Given the description of an element on the screen output the (x, y) to click on. 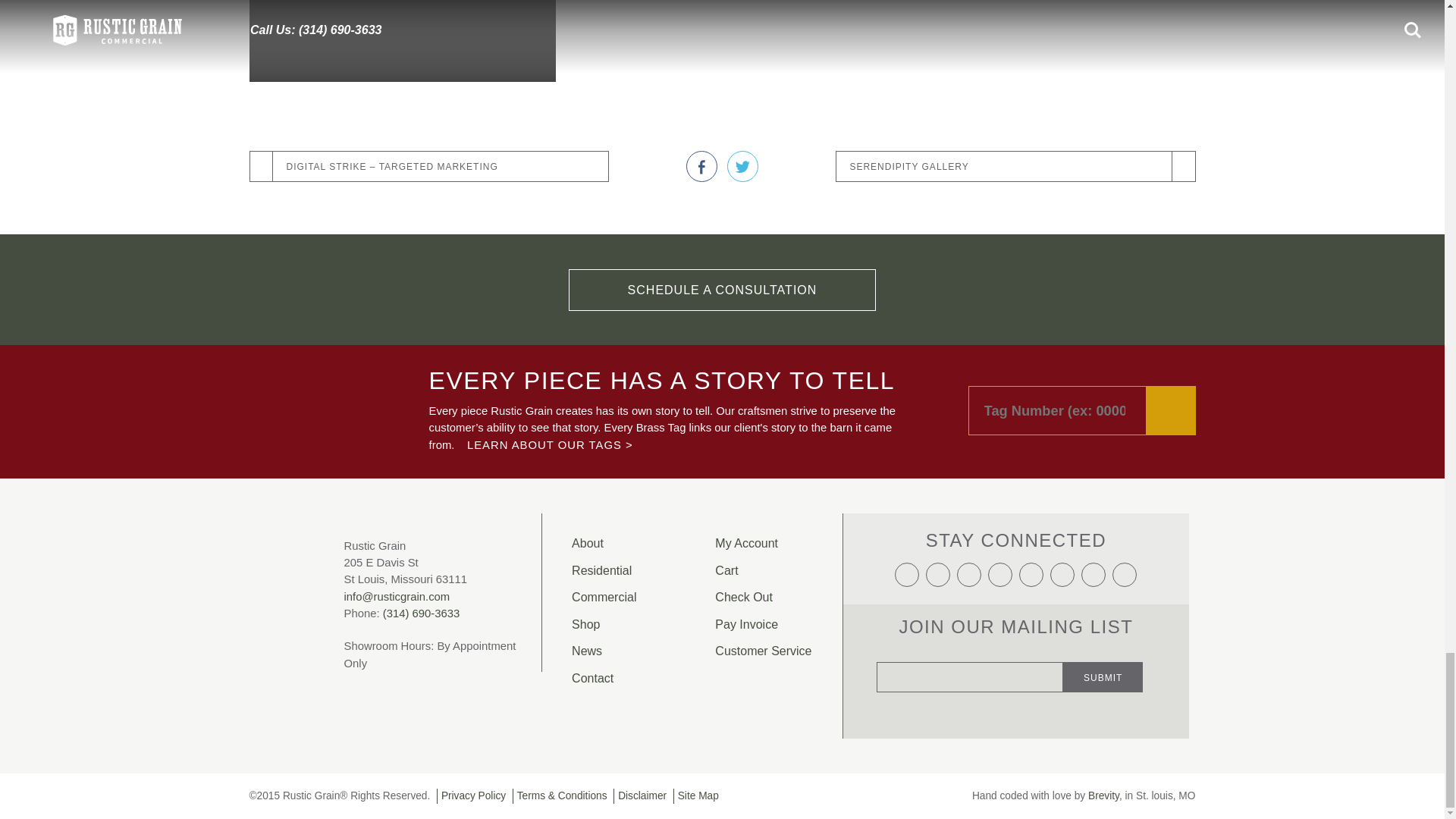
Search (1170, 409)
Tag Search (1081, 409)
Submit (1102, 675)
SERENDIPITY GALLERY (1014, 166)
Search (1170, 409)
